Given the description of an element on the screen output the (x, y) to click on. 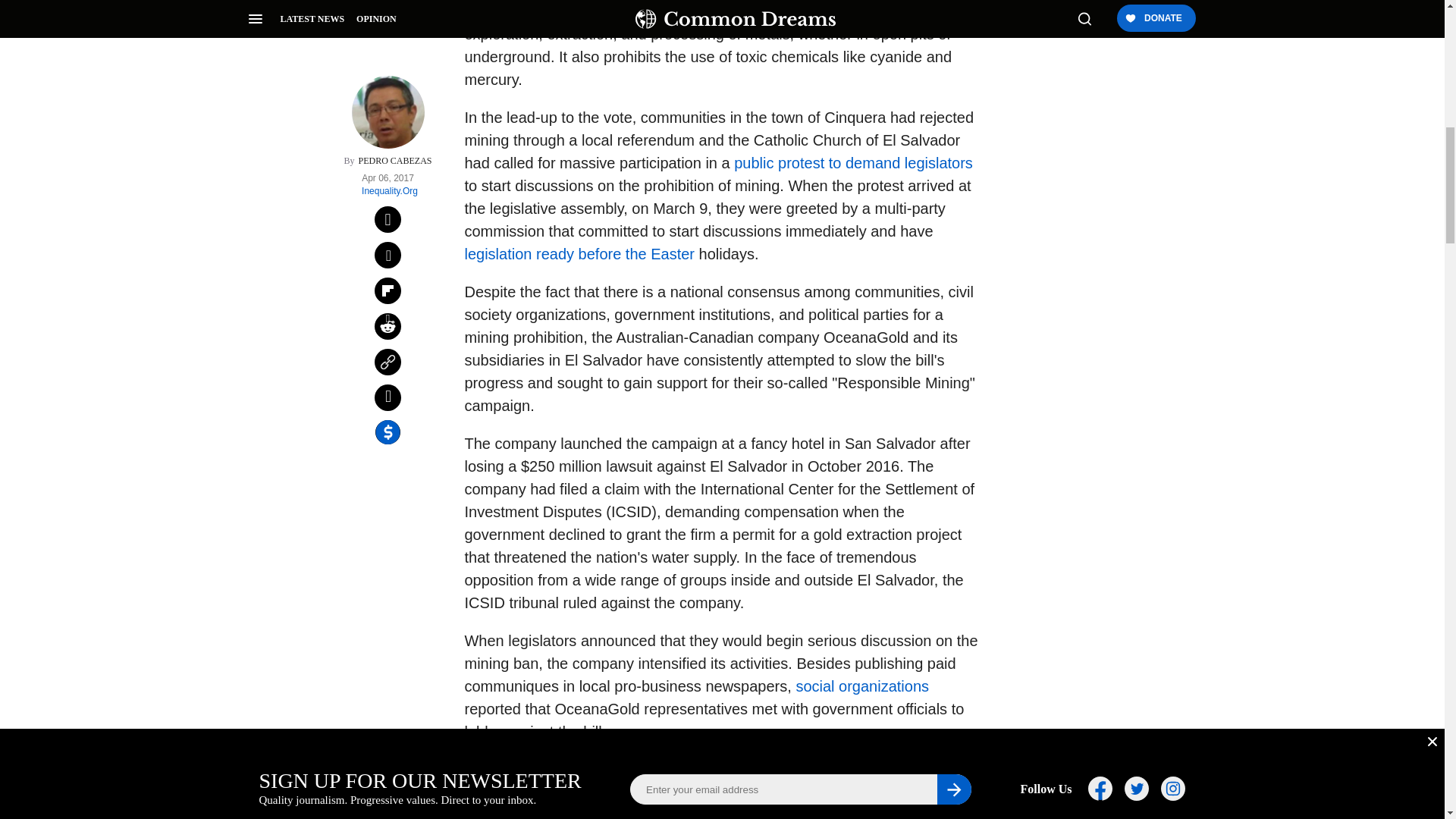
Copy this link to clipboard (387, 141)
social organizations  (861, 686)
legislation ready before the Easter (579, 253)
public protest to demand legislators (852, 162)
